Given the description of an element on the screen output the (x, y) to click on. 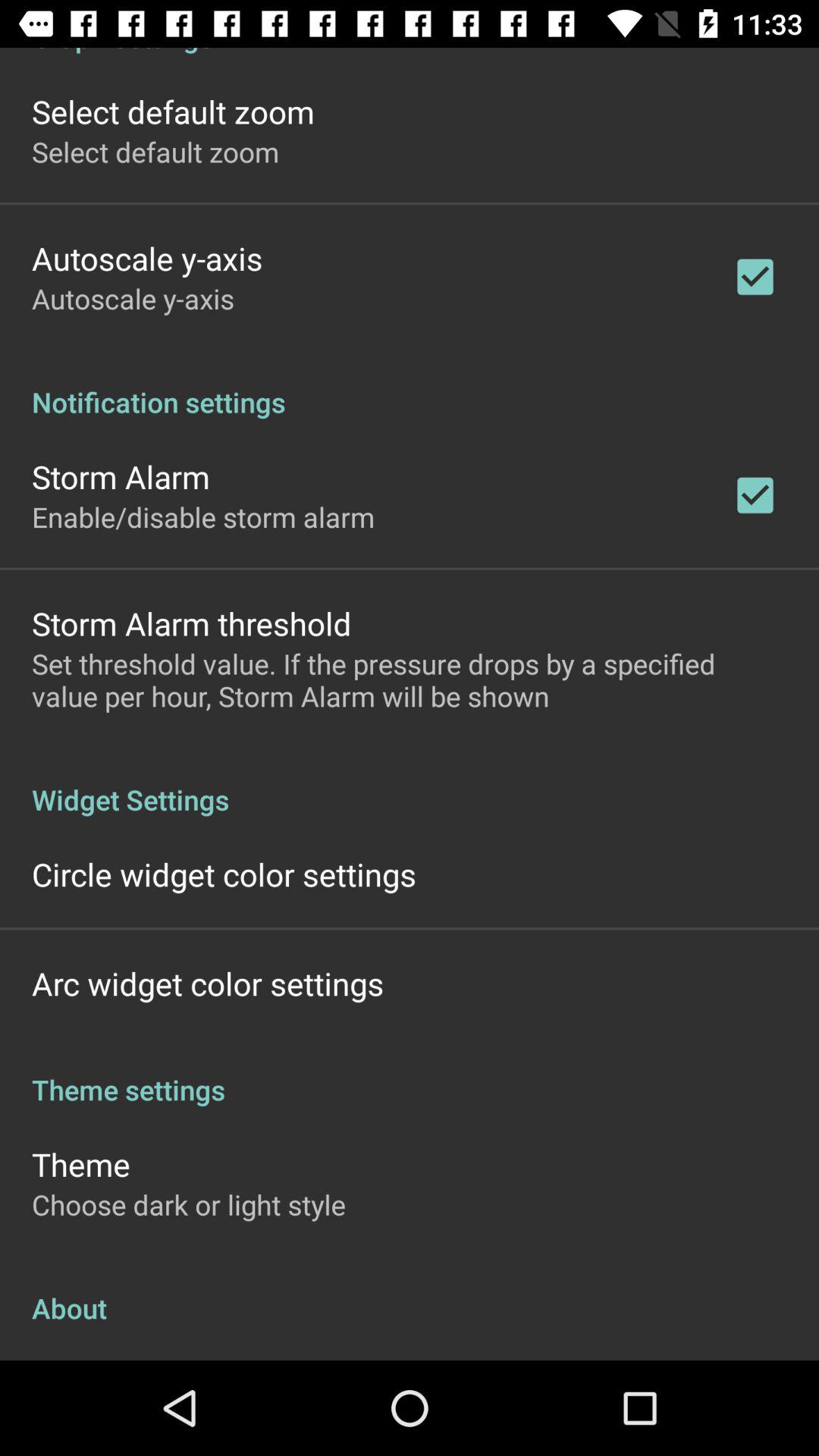
tap icon below choose dark or (409, 1291)
